Given the description of an element on the screen output the (x, y) to click on. 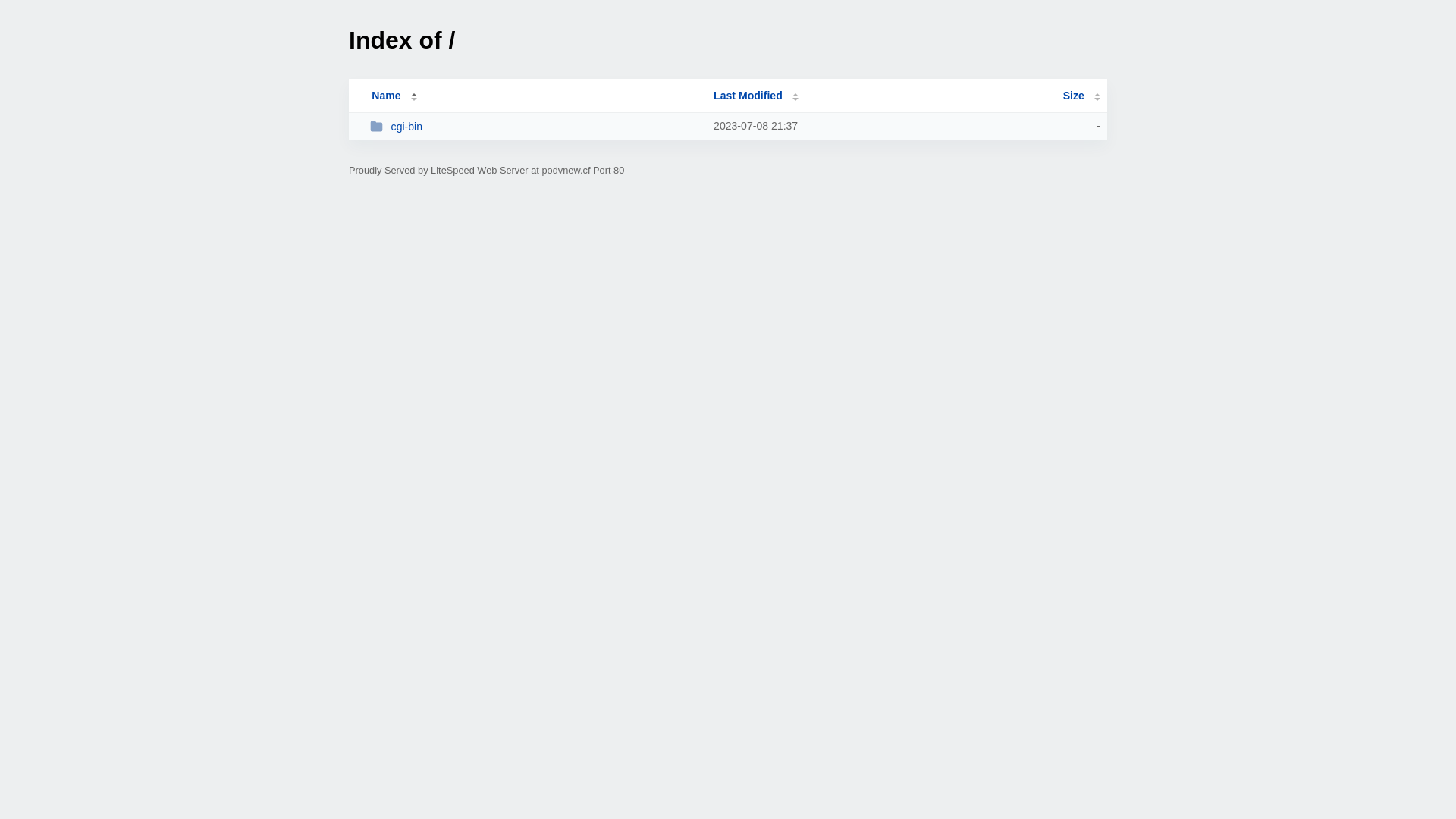
Name Element type: text (385, 95)
Last Modified Element type: text (755, 95)
Size Element type: text (1081, 95)
cgi-bin Element type: text (534, 125)
